Given the description of an element on the screen output the (x, y) to click on. 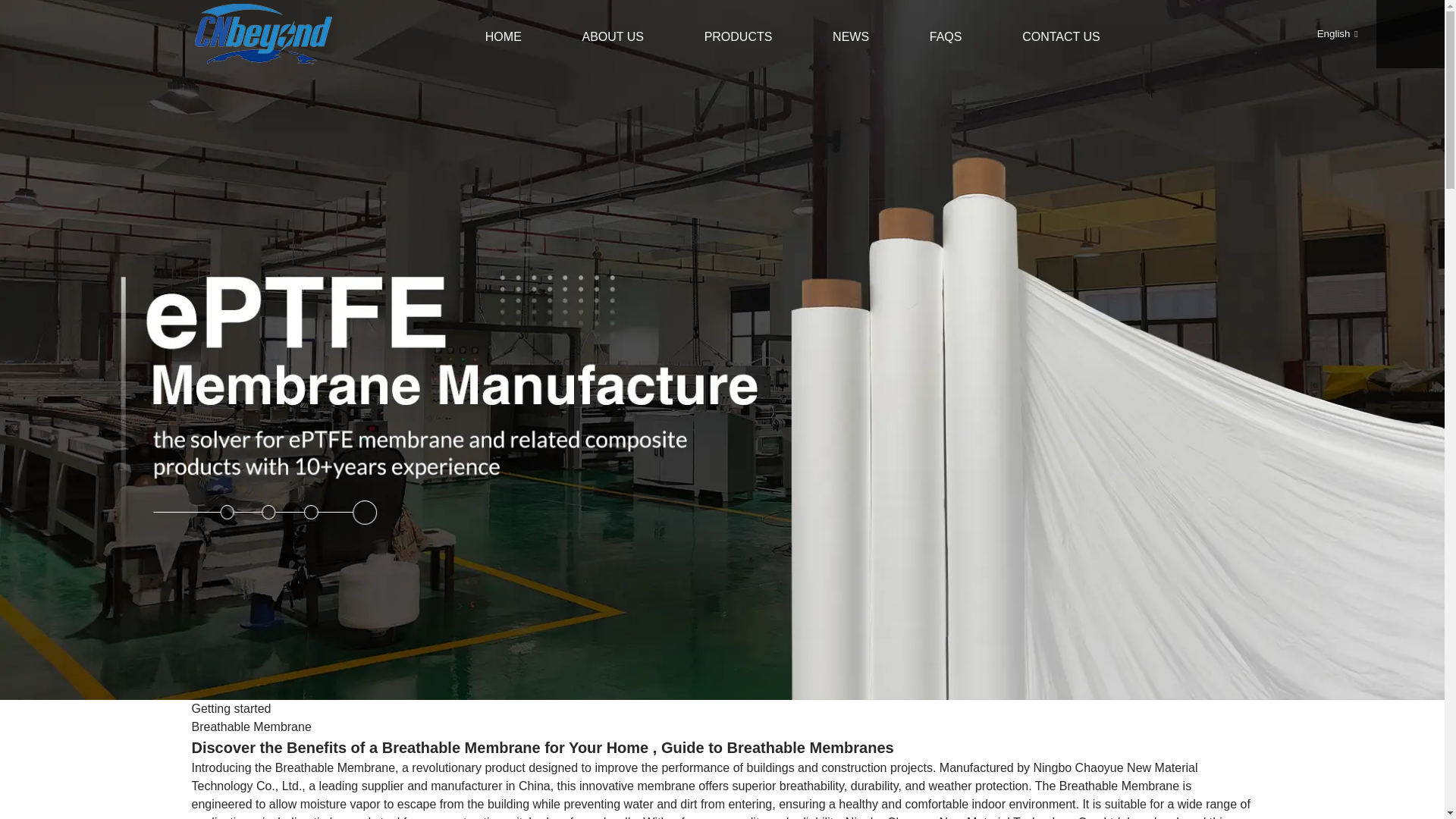
FAQS (946, 36)
Getting started (230, 707)
NEWS (850, 36)
HOME (503, 36)
ABOUT US (612, 36)
CONTACT US (1061, 36)
PRODUCTS (738, 36)
Breathable Membrane (250, 726)
English (1325, 33)
